Given the description of an element on the screen output the (x, y) to click on. 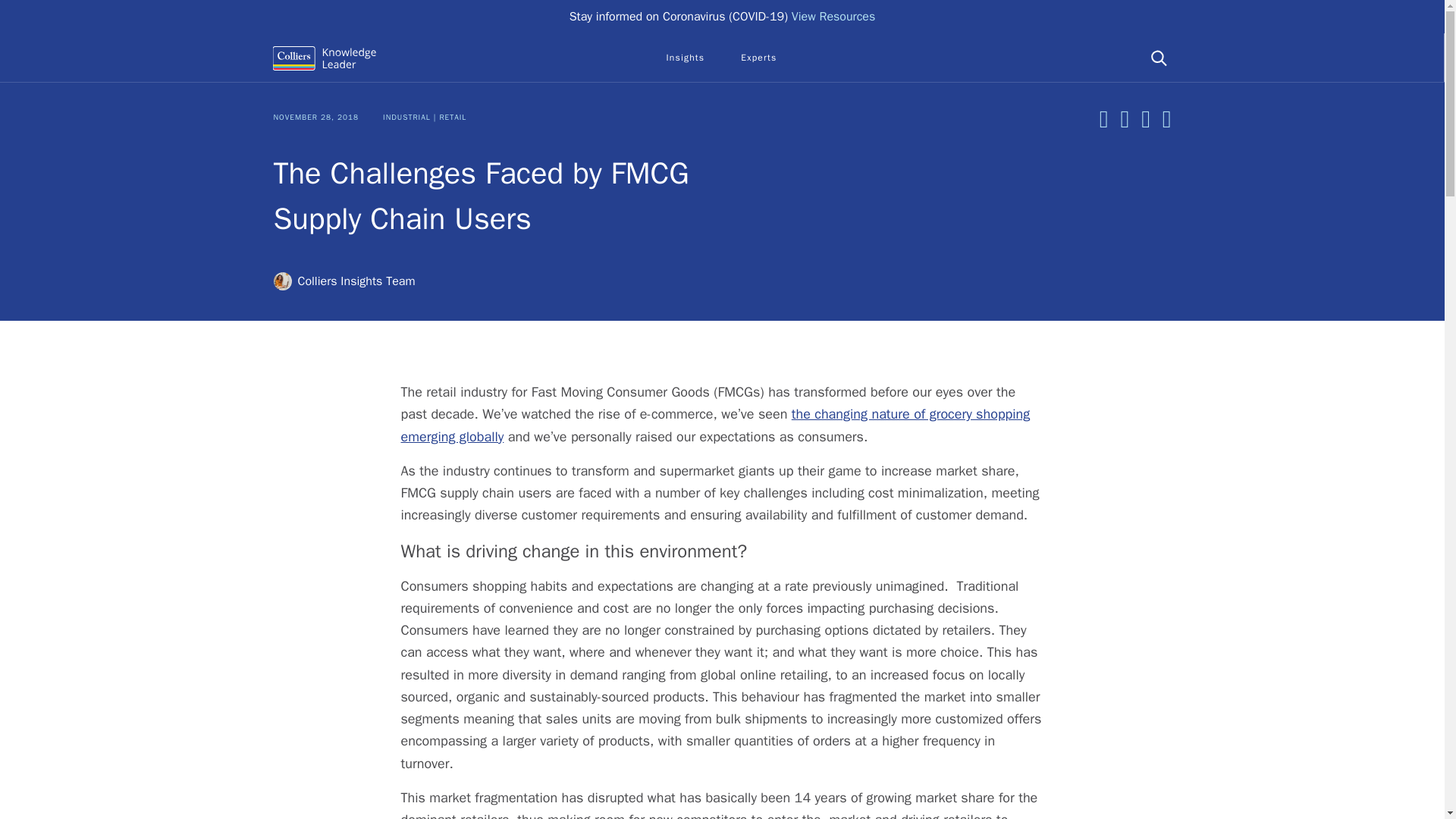
Experts (758, 58)
RETAIL (452, 117)
View Resources (834, 16)
Colliers Insights Team (343, 280)
Insights (684, 58)
the changing nature of grocery shopping emerging globally (714, 424)
INDUSTRIAL (406, 117)
